Given the description of an element on the screen output the (x, y) to click on. 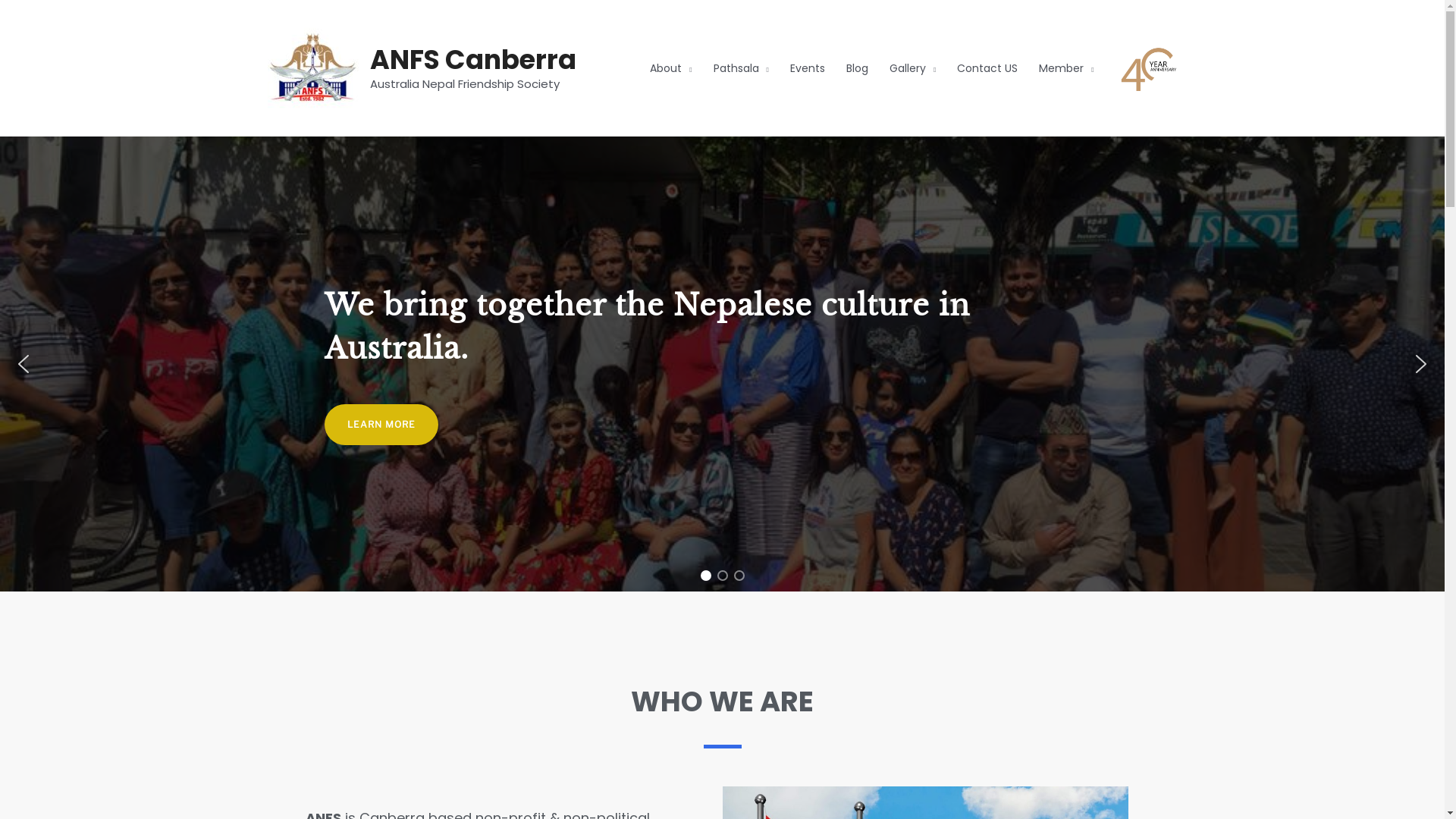
Member Element type: text (1066, 67)
Events Element type: text (807, 67)
About Element type: text (670, 67)
ANFS Canberra Element type: text (473, 59)
Blog Element type: text (856, 67)
LEARN MORE Element type: text (381, 423)
Contact US Element type: text (987, 67)
Pathsala Element type: text (740, 67)
Gallery Element type: text (912, 67)
